Given the description of an element on the screen output the (x, y) to click on. 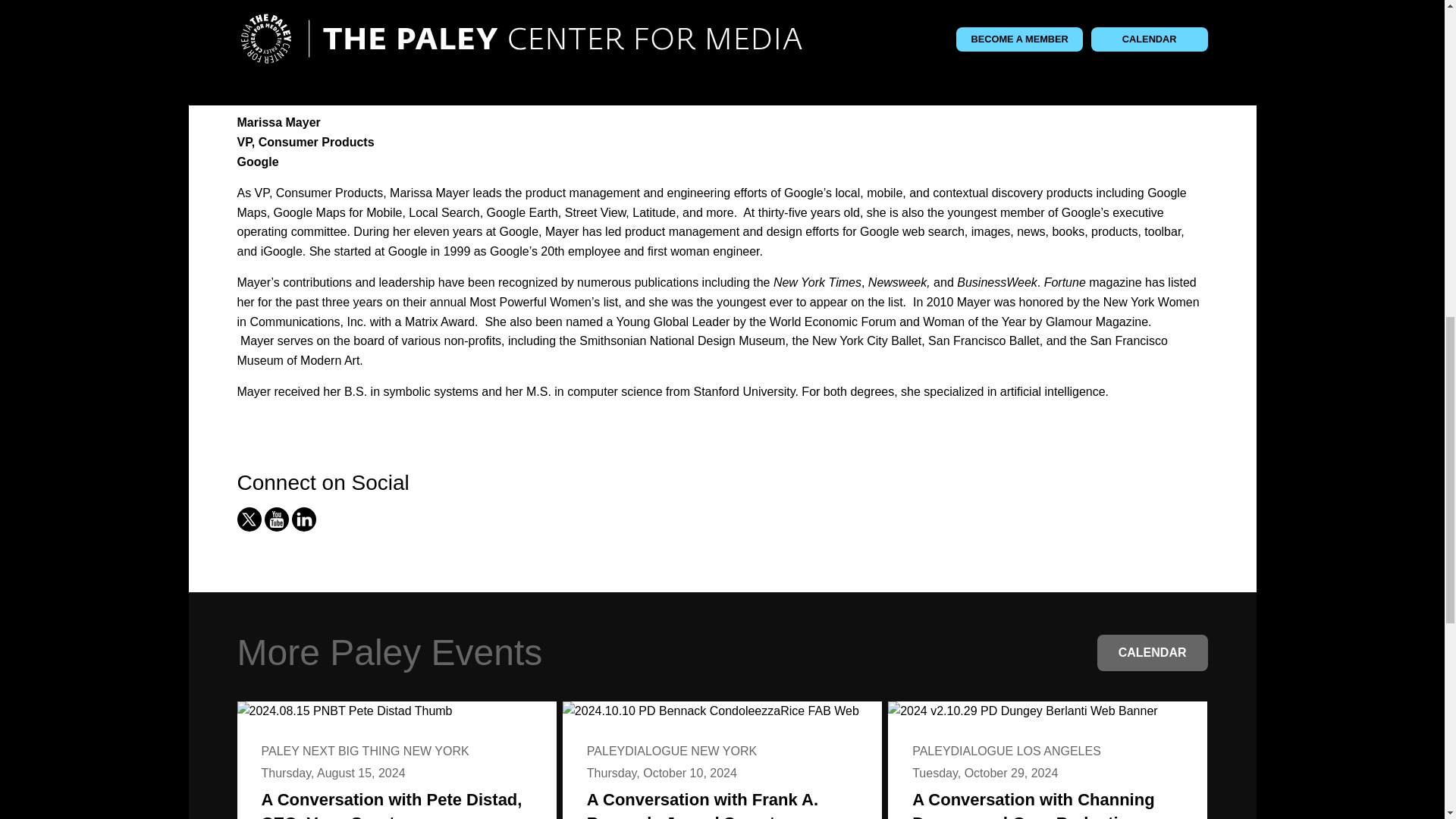
CALENDAR (1152, 652)
click here (560, 45)
click here (522, 77)
